Given the description of an element on the screen output the (x, y) to click on. 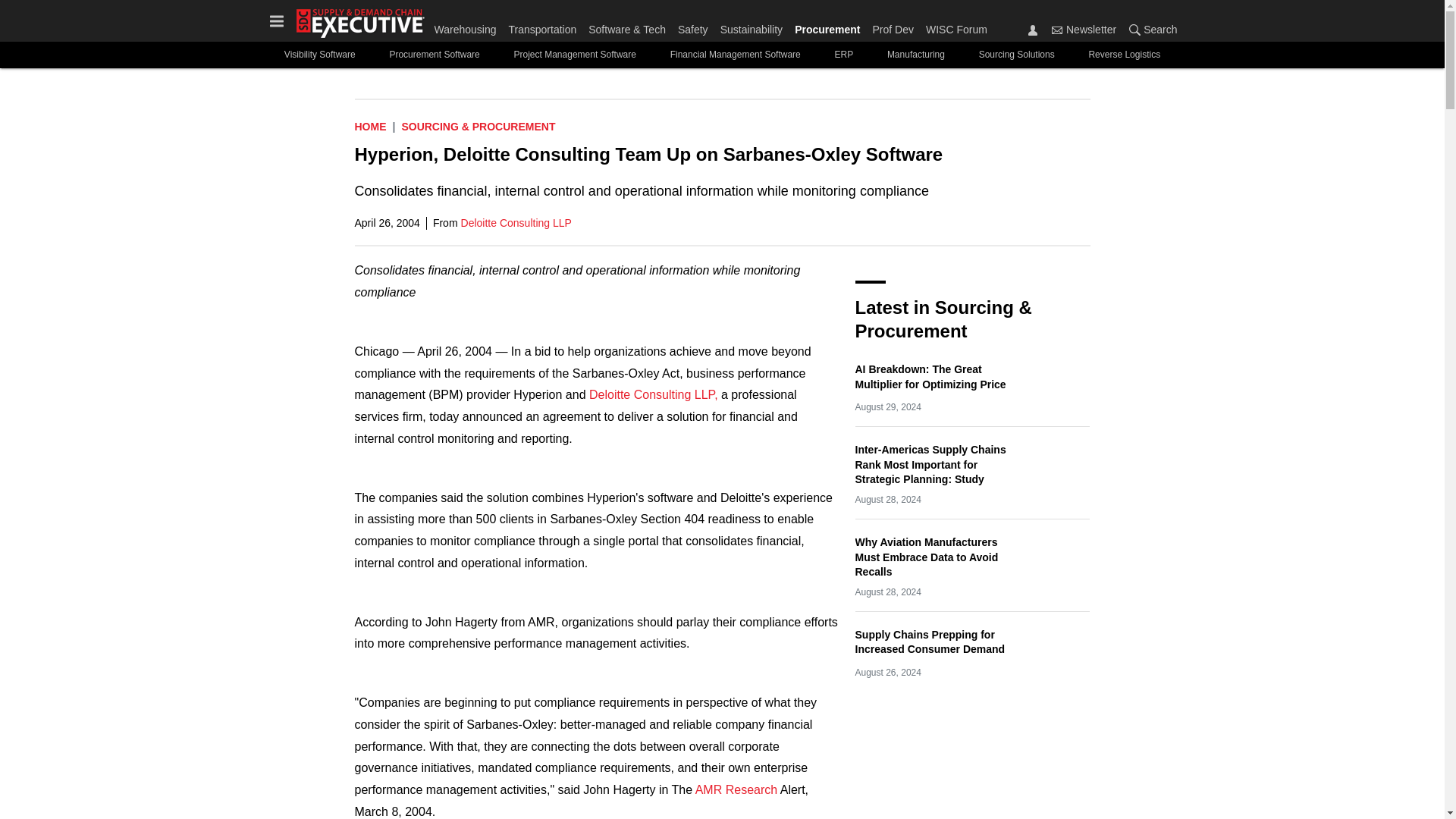
ERP (843, 54)
Warehousing (467, 26)
Search (1134, 29)
Prof Dev (892, 26)
Search (1149, 29)
WISC Forum (953, 26)
Newsletter (1056, 29)
Procurement (827, 26)
Sign In (1032, 29)
Reverse Logistics (1123, 54)
